Given the description of an element on the screen output the (x, y) to click on. 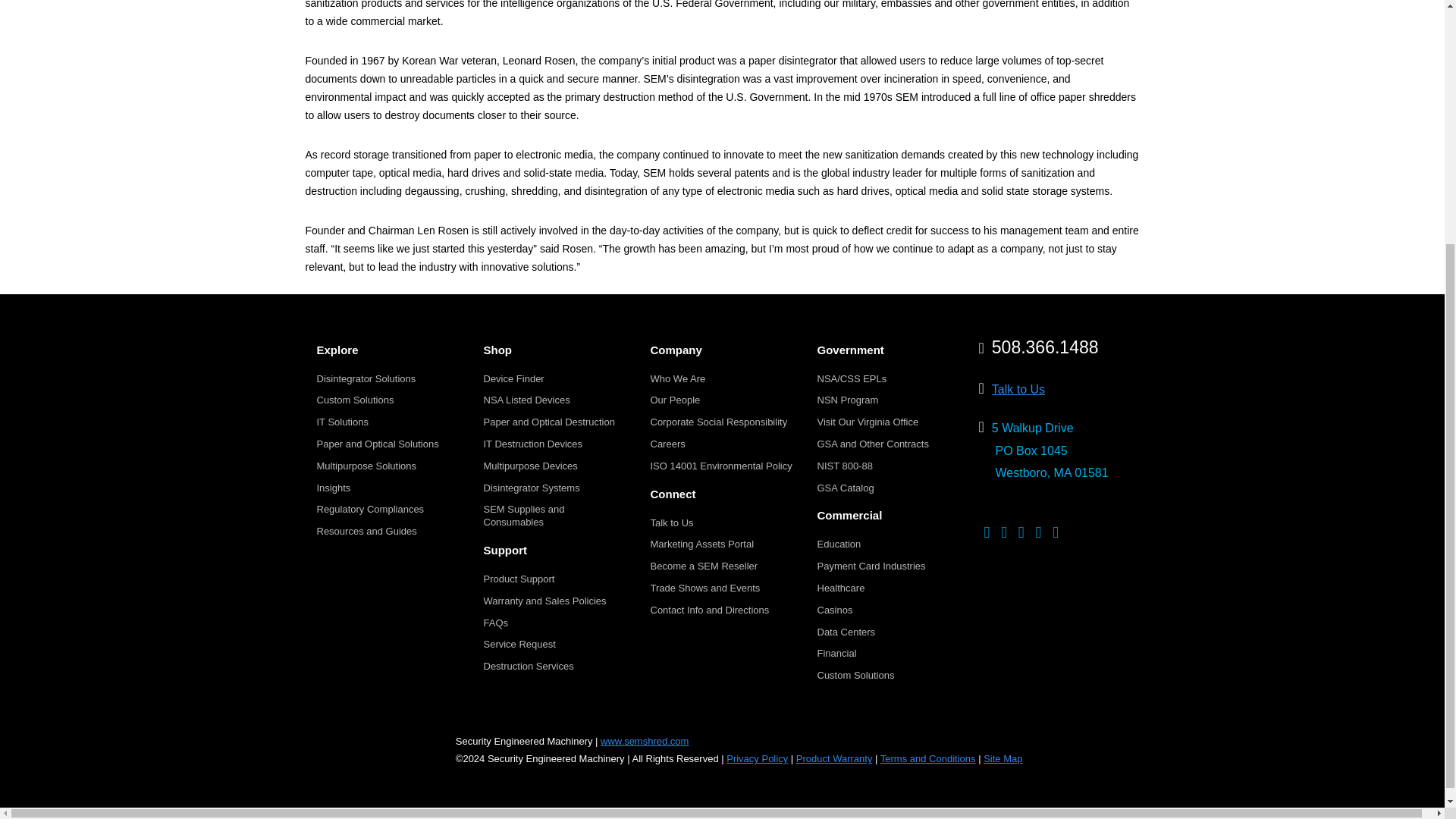
Paper and Optical Solutions (378, 443)
Insights (333, 487)
IT Solutions (342, 421)
Disintegrator Solutions (366, 378)
Disintegrator Systems (531, 487)
NSA Listed Devices (526, 399)
Custom Solutions (355, 399)
IT Destruction Devices (533, 443)
Resources and Guides (366, 531)
Paper and Optical Destruction (548, 421)
